Given the description of an element on the screen output the (x, y) to click on. 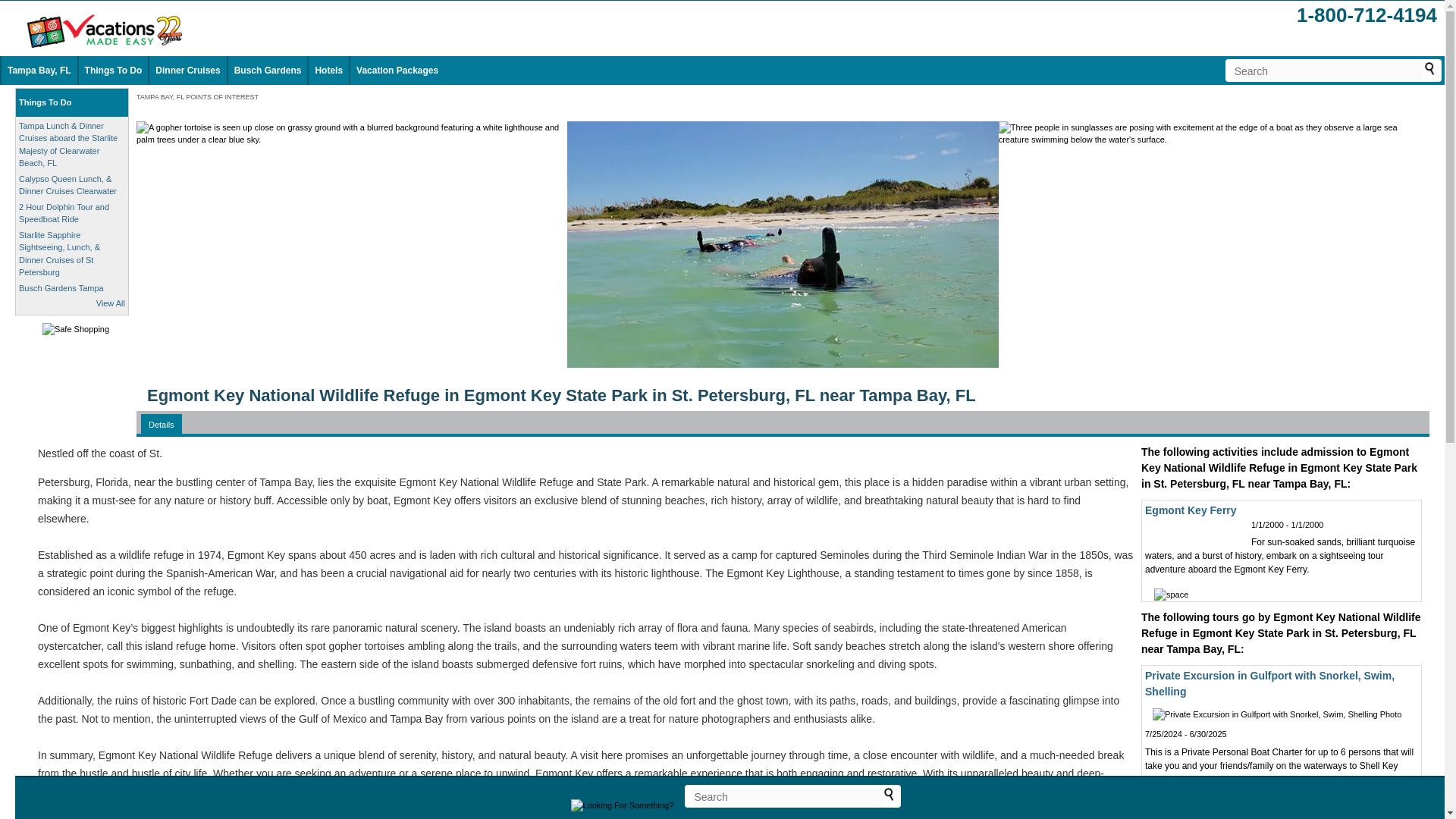
Busch Gardens Tampa (60, 287)
2 Hour Dolphin Tour and Speedboat Ride (63, 212)
Details (161, 424)
Vacation Packages (397, 70)
Hotels (328, 70)
Private Excursion in Gulfport with Snorkel, Swim, Shelling (1269, 683)
Tampa Bay, FL (39, 70)
Things To Do (44, 102)
Things To Do (113, 70)
Book Now (1378, 814)
Dinner Cruises (187, 70)
Egmont Key Ferry (1190, 510)
Busch Gardens (267, 70)
TAMPA BAY, FL POINTS OF INTEREST (197, 96)
View All (110, 302)
